Given the description of an element on the screen output the (x, y) to click on. 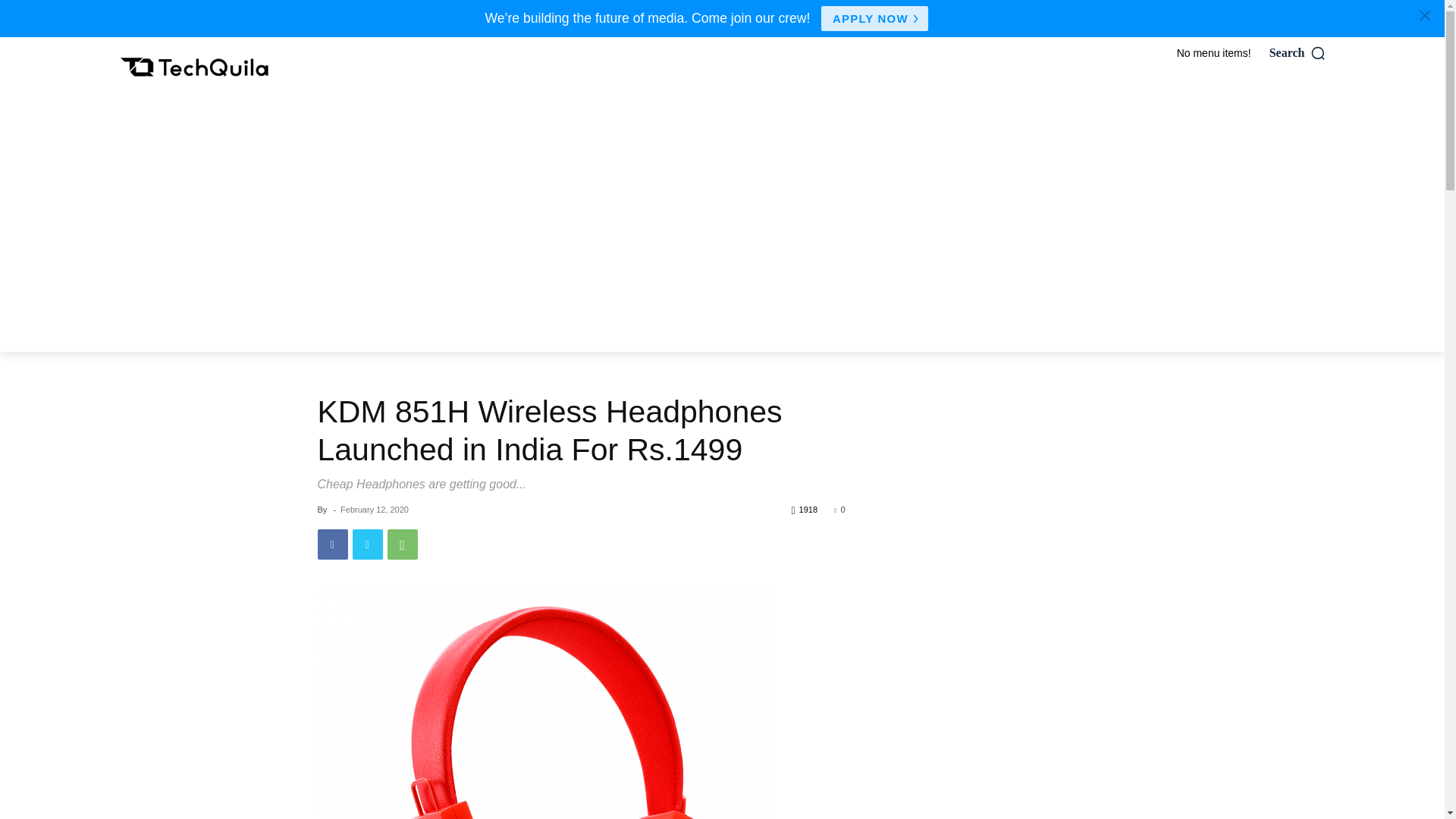
Facebook (332, 544)
KDM 851H Wireless Headphones (544, 703)
Search (1297, 53)
Twitter (366, 544)
APPLY NOW (874, 18)
WhatsApp (401, 544)
0 (839, 509)
